Given the description of an element on the screen output the (x, y) to click on. 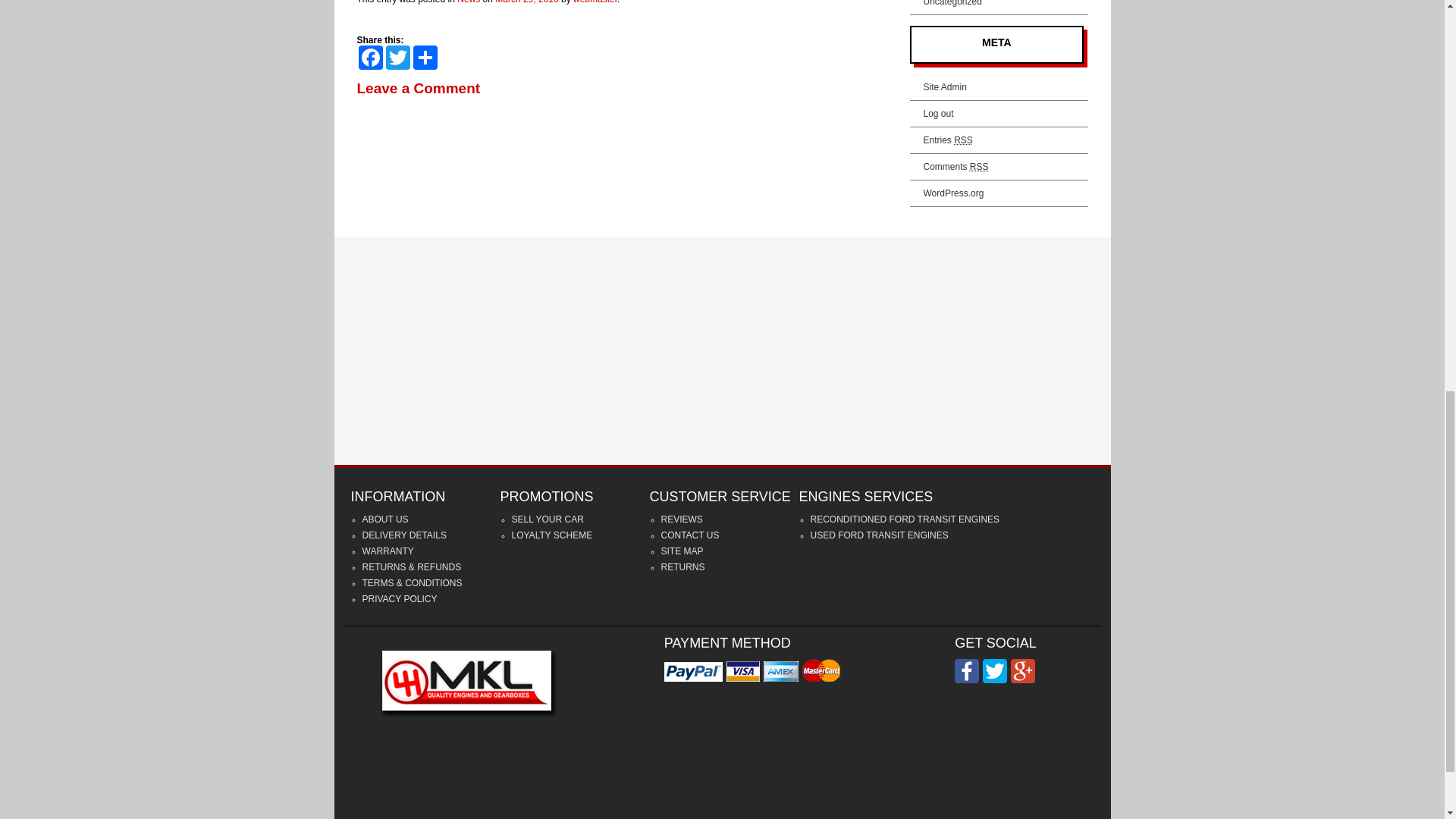
Entries RSS (947, 140)
Twitter (397, 57)
Share (424, 57)
Leave a Comment (418, 90)
ABOUT US (385, 519)
webmaster (595, 2)
March 29, 2016 (526, 2)
Site Admin (944, 86)
DELIVERY DETAILS (404, 534)
Comments RSS (955, 166)
WordPress.org (953, 193)
2:01 pm (526, 2)
Really Simple Syndication (962, 140)
Facebook (370, 57)
